Given the description of an element on the screen output the (x, y) to click on. 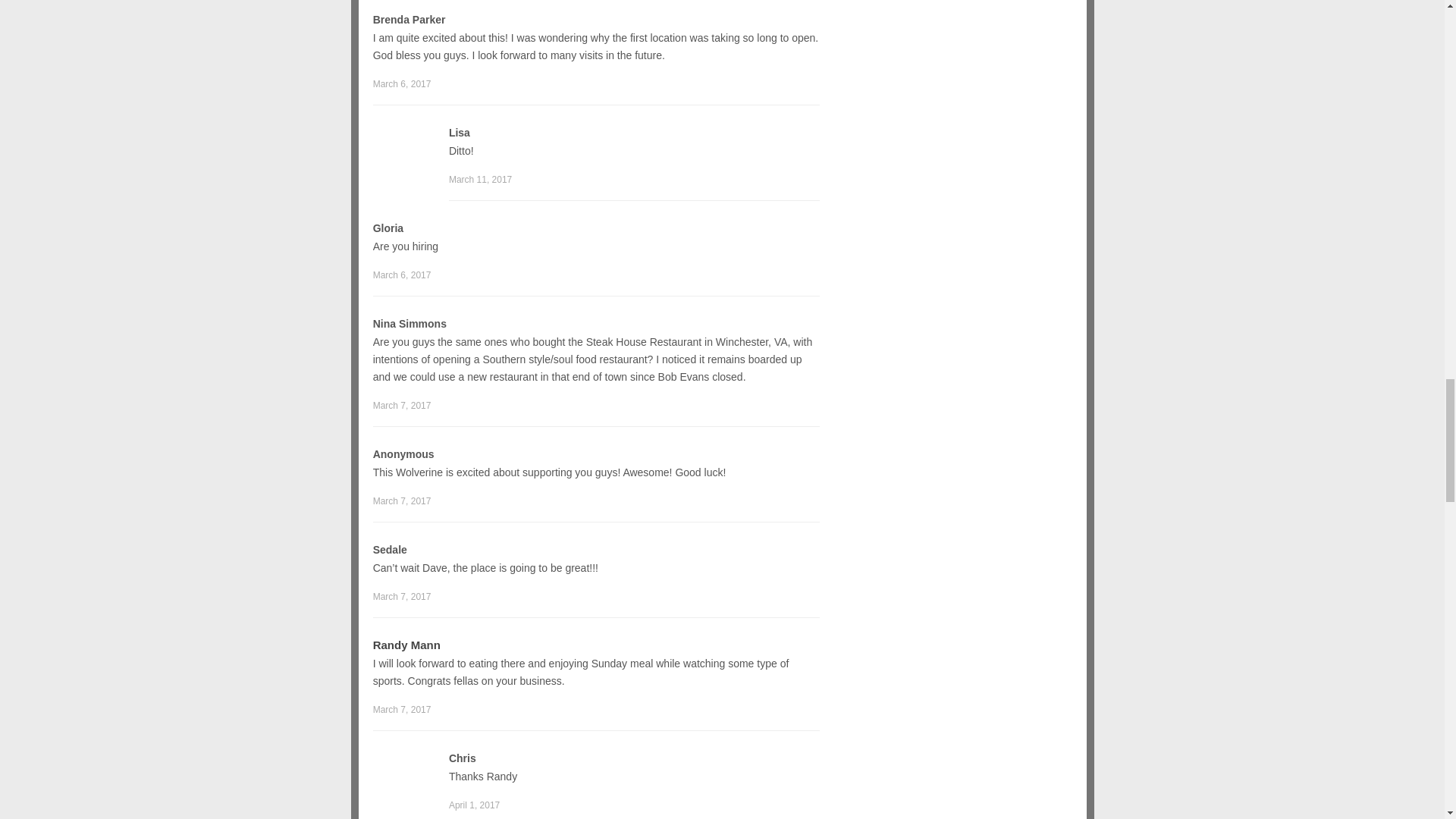
Randy Mann (406, 644)
